Given the description of an element on the screen output the (x, y) to click on. 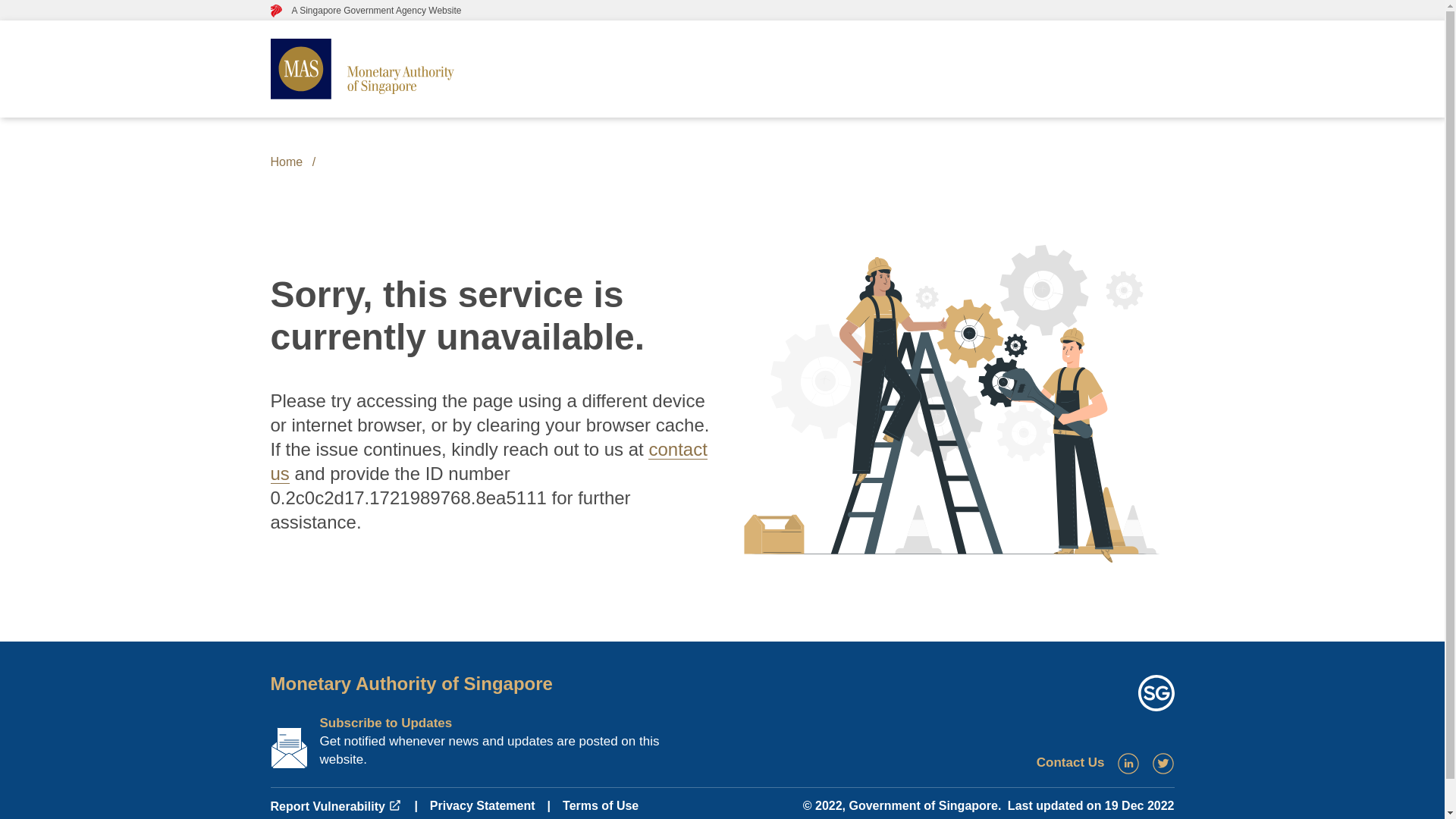
Monetary Authority of Singapore (410, 683)
Privacy Statement (482, 805)
contact us (487, 461)
Home (285, 161)
Contact Us (1070, 762)
Report Vulnerability (335, 806)
A Singapore Government Agency Website (365, 10)
Terms of Use (600, 805)
